Given the description of an element on the screen output the (x, y) to click on. 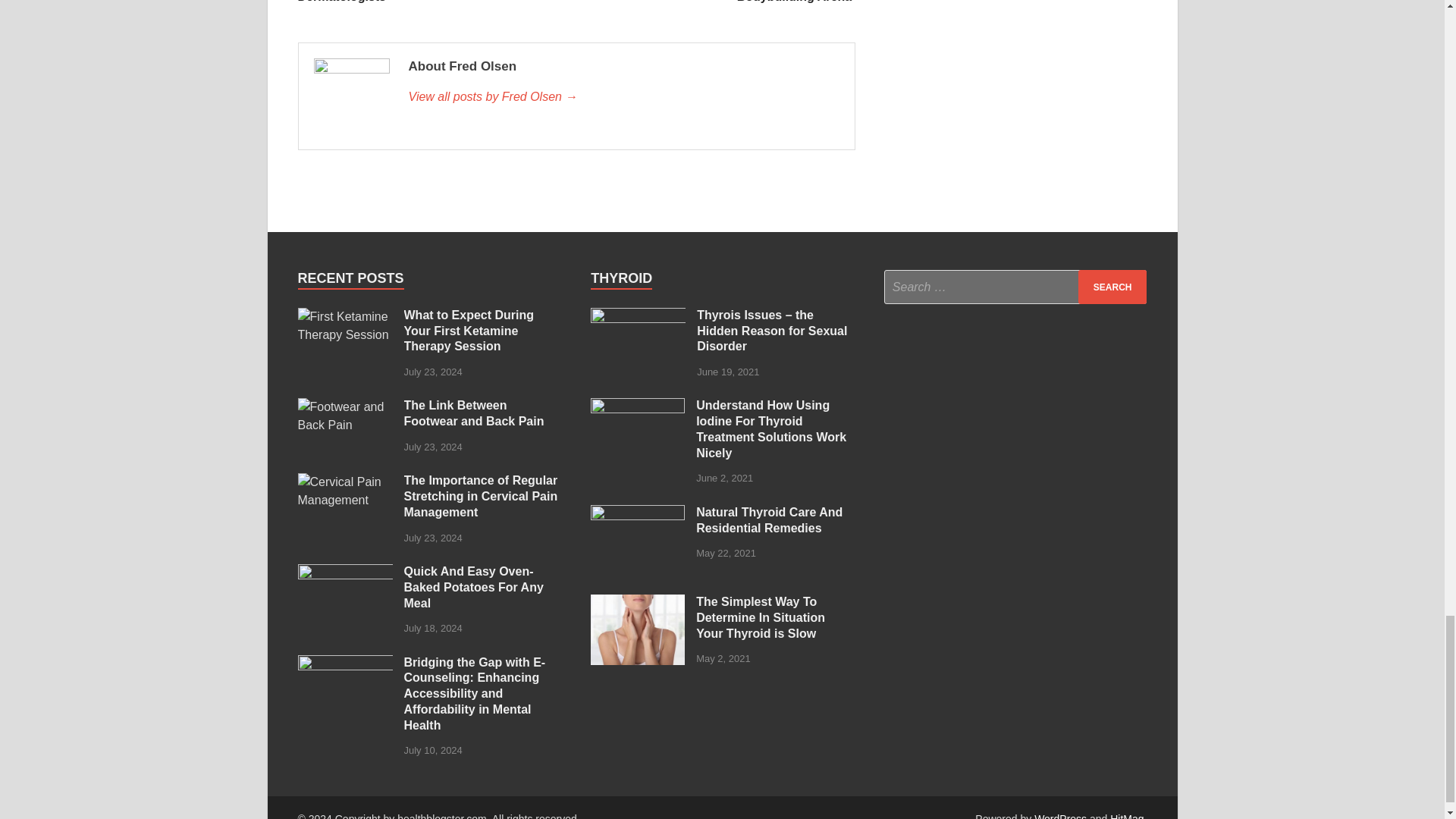
Search (1112, 286)
Search (1112, 286)
Fred Olsen (622, 96)
